Given the description of an element on the screen output the (x, y) to click on. 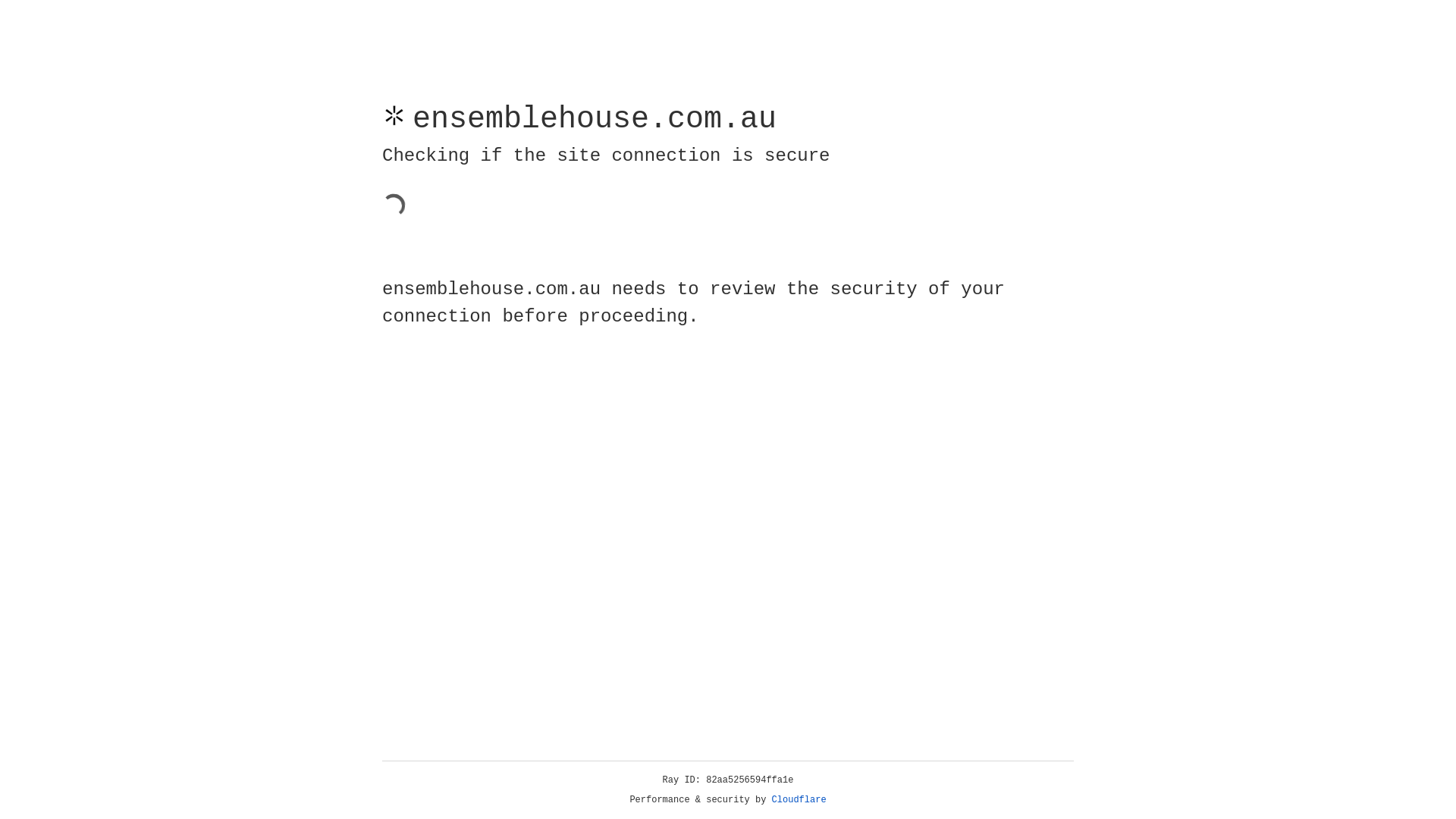
Cloudflare Element type: text (798, 799)
Widget containing a Cloudflare security challenge Element type: hover (495, 218)
